Given the description of an element on the screen output the (x, y) to click on. 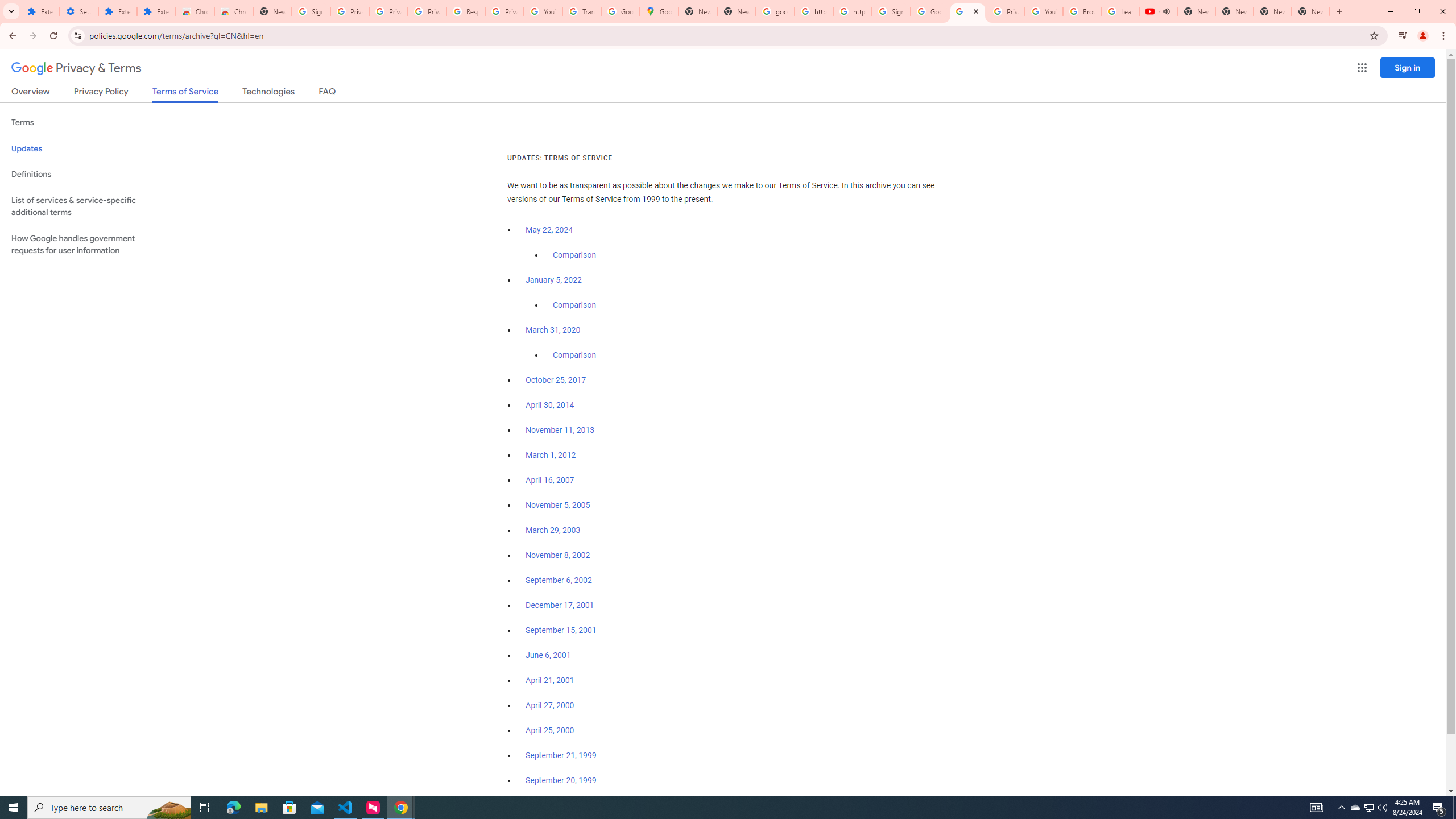
April 27, 2000 (550, 705)
Sign in - Google Accounts (890, 11)
https://scholar.google.com/ (852, 11)
